Given the description of an element on the screen output the (x, y) to click on. 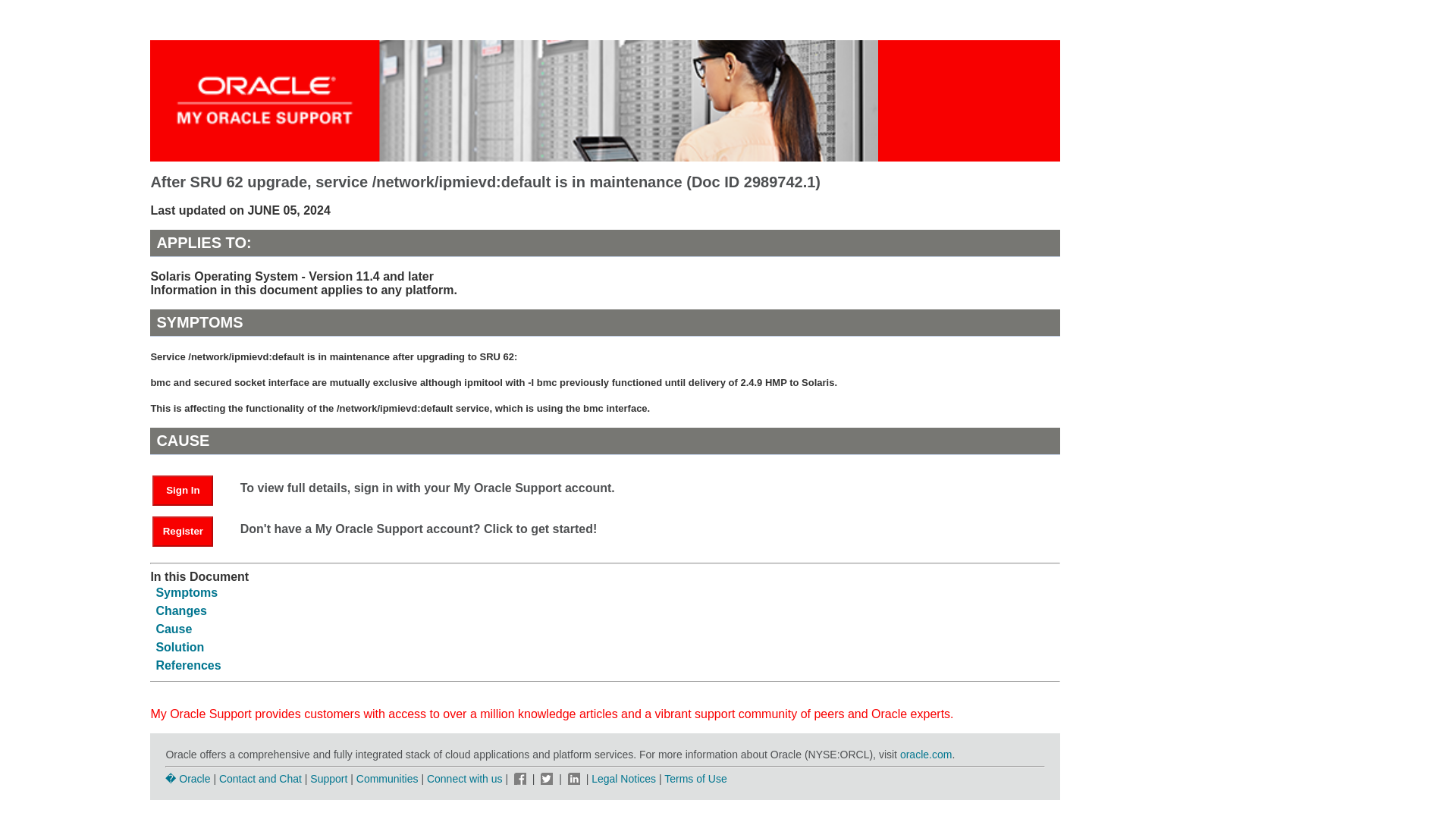
oracle.com (925, 754)
References (188, 665)
Register (190, 530)
oracle.com (925, 754)
Terms of Use (694, 778)
Support (328, 778)
Communities (387, 778)
Legal Notices (623, 778)
Changes (180, 610)
Sign In (182, 490)
Register (182, 531)
Sign In (190, 489)
Solution (179, 646)
Connect with us (465, 778)
Contact and Chat (260, 778)
